Given the description of an element on the screen output the (x, y) to click on. 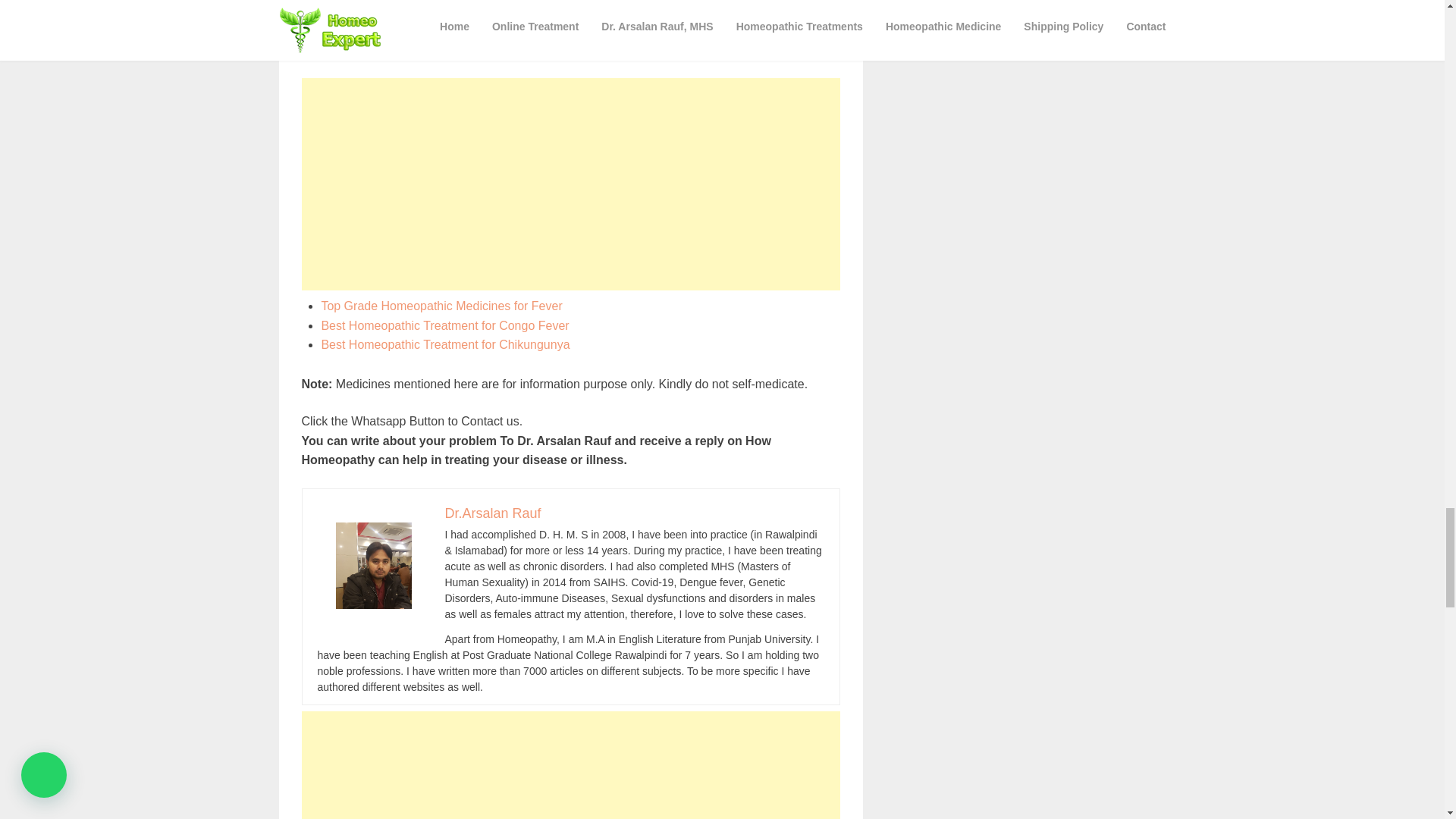
Best Homeopathic Treatment for Congo Fever (444, 325)
Dr.Arsalan Rauf (492, 513)
Top Grade Homeopathic Medicines for Fever (441, 305)
Best Homeopathic Treatment for Chikungunya (444, 344)
